Given the description of an element on the screen output the (x, y) to click on. 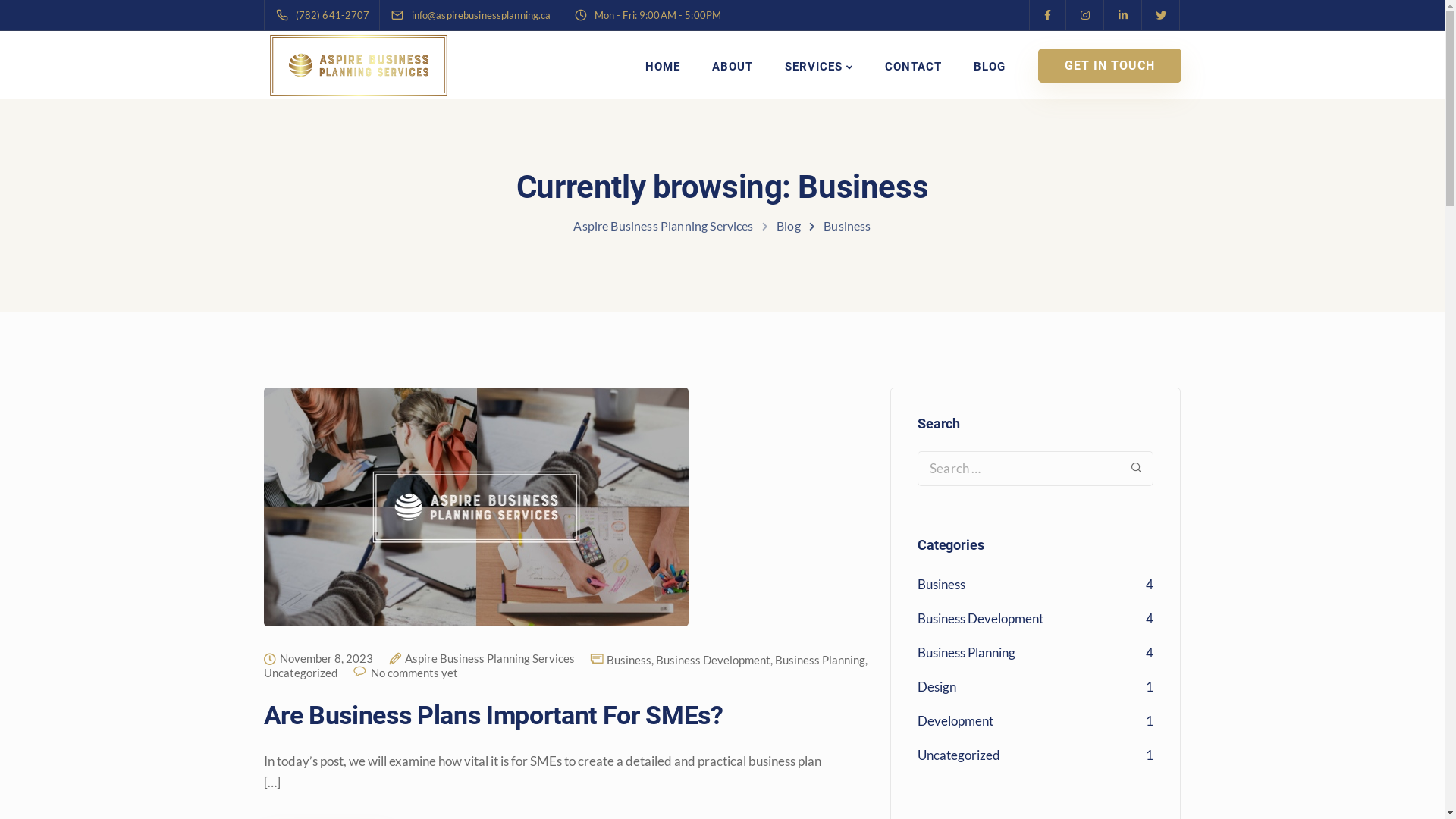
info@aspirebusinessplanning.ca Element type: text (484, 15)
(782) 641-2707 Element type: text (326, 15)
Business Planning Element type: text (966, 652)
Are Business Plans Important For SMEs? Element type: hover (475, 518)
(782) 641-2707 Element type: text (775, 631)
Marketing Plan Element type: text (545, 627)
Facebook Element type: hover (990, 596)
Subscribe Element type: text (999, 742)
Aspire Business Planning Services Element type: text (663, 225)
Business Element type: text (941, 584)
Business Development Element type: text (980, 618)
Twitter Element type: hover (1027, 596)
Aspire Business Planning Services Element type: text (489, 658)
GET IN TOUCH Element type: text (1108, 65)
SERVICES Element type: text (817, 67)
Are Business Plans Important For SMEs? Element type: text (493, 714)
CONTACT Element type: text (912, 67)
BLOG Element type: text (989, 67)
ABOUT Element type: text (731, 67)
LinkedIn Element type: hover (1058, 596)
LinkedIn Element type: hover (1063, 596)
Twitter Element type: hover (1031, 596)
Blog Element type: text (788, 225)
Business Element type: text (628, 659)
info@aspirebusinessplanning.ca Element type: text (817, 651)
Uncategorized Element type: text (958, 754)
Business Plan Element type: text (540, 592)
No comments yet Element type: text (413, 672)
Uncategorized Element type: text (300, 672)
Business Development Element type: text (712, 659)
Facebook Element type: hover (1000, 596)
November 8, 2023 Element type: text (325, 658)
HOME Element type: text (661, 67)
Development Element type: text (955, 720)
Business Planning Element type: text (820, 659)
Search Engine Optimization Element type: text (578, 661)
Marketing Research Element type: text (557, 696)
Design Element type: text (936, 686)
